Given the description of an element on the screen output the (x, y) to click on. 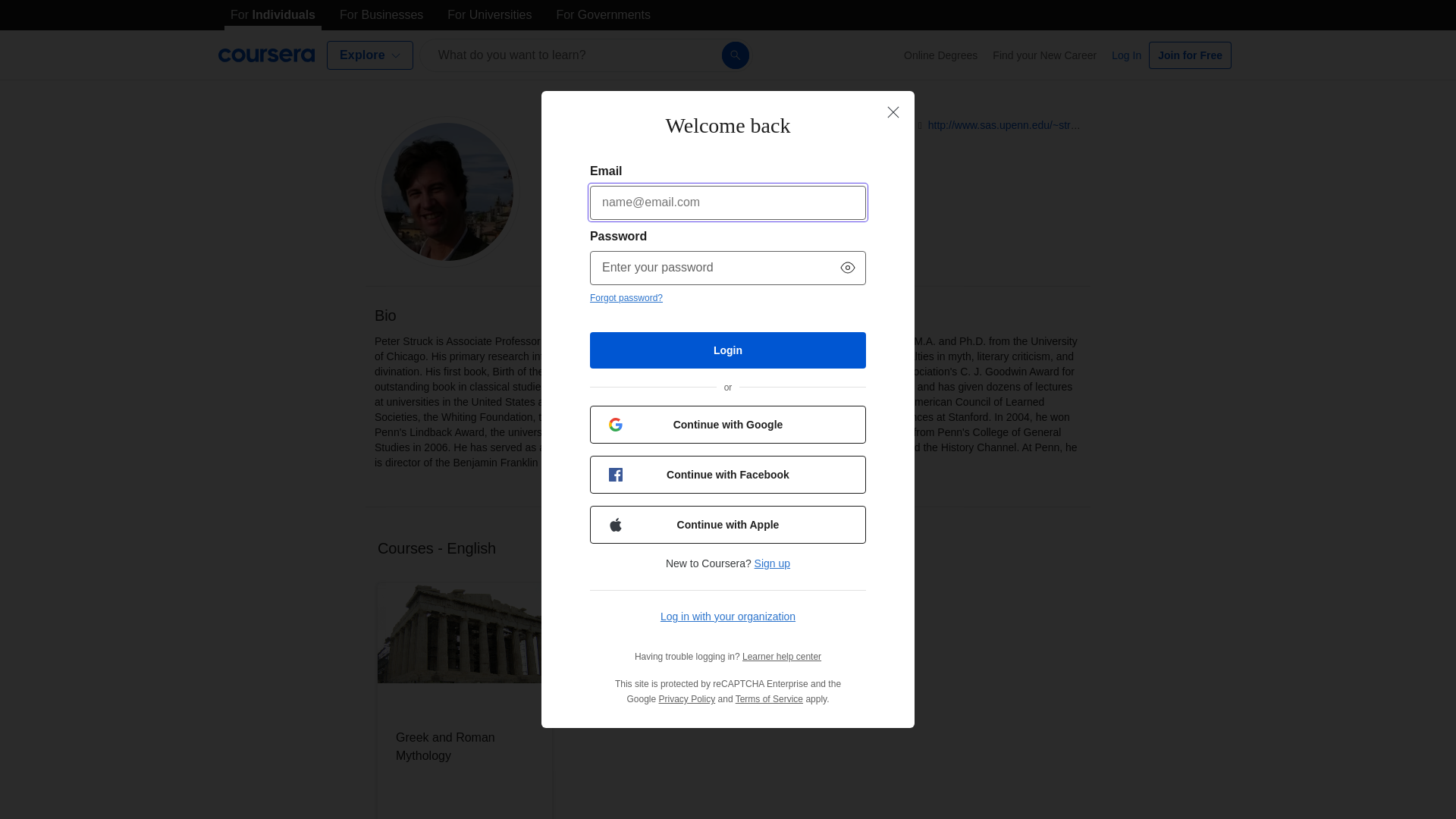
For Businesses (381, 15)
For Governments (603, 15)
Join for Free (1189, 53)
University of Pennsylvania (617, 165)
Explore (369, 54)
Log In (1125, 54)
For Universities (489, 15)
Find your New Career (1044, 54)
For Individuals (272, 15)
Online Degrees (940, 54)
